Given the description of an element on the screen output the (x, y) to click on. 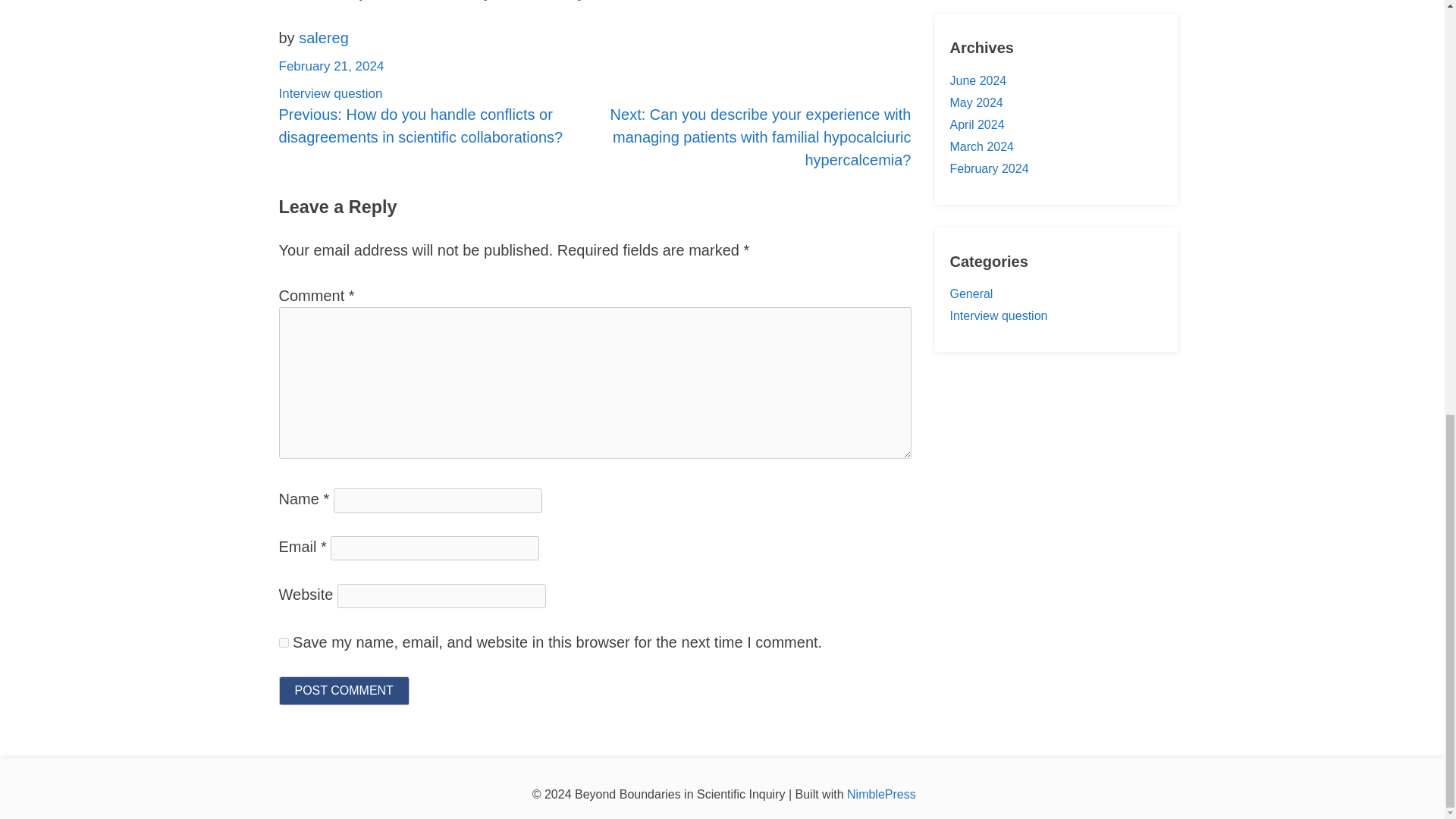
yes (283, 642)
salereg (323, 37)
February 2024 (988, 168)
Post Comment (344, 690)
Post Comment (344, 690)
General (970, 293)
June 2024 (977, 80)
NimblePress (881, 794)
Interview question (997, 315)
